Given the description of an element on the screen output the (x, y) to click on. 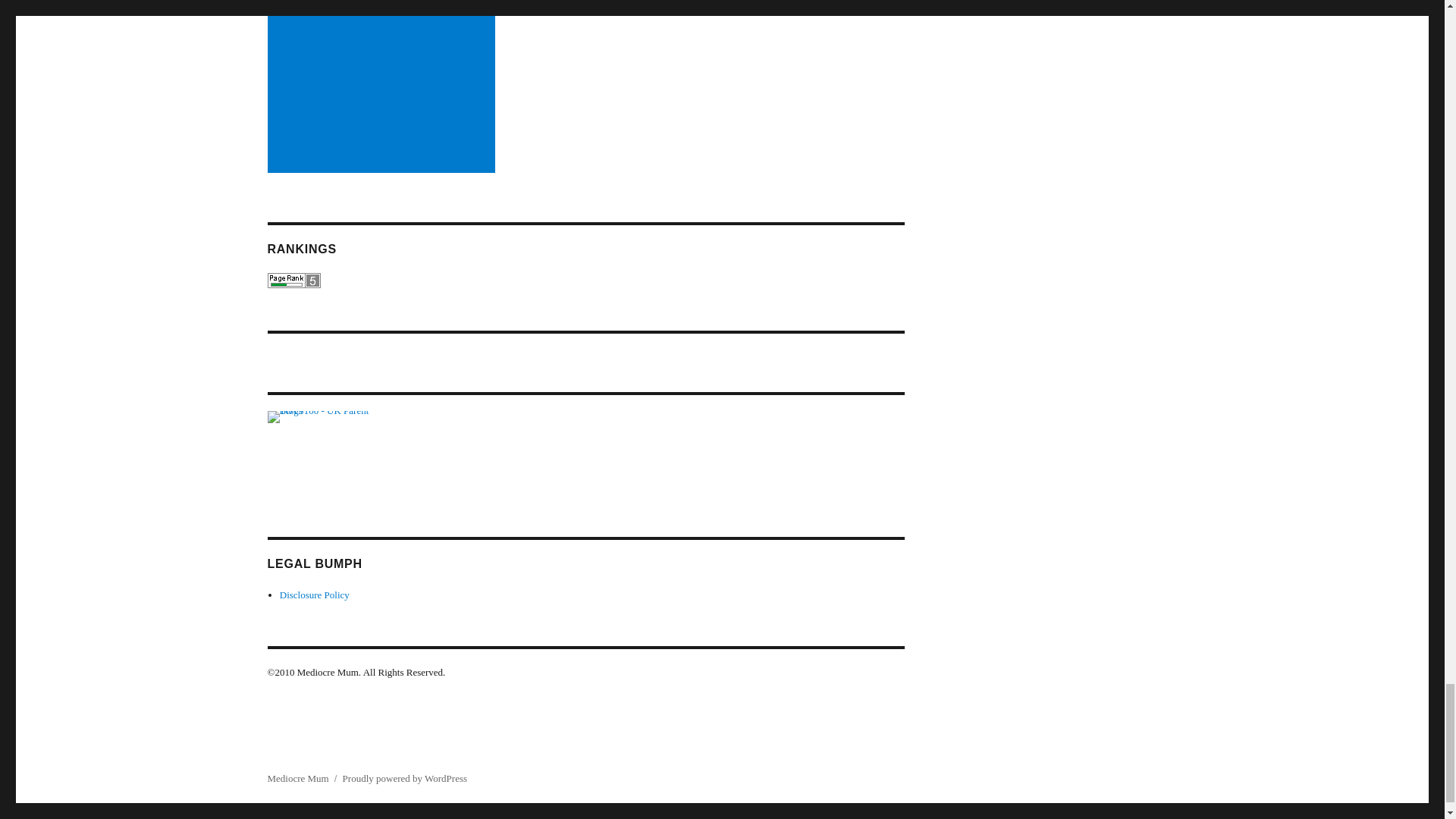
Disclosure Policy (314, 594)
TOTS100 - UK Parent Blogs (328, 452)
TOTS 100 - UK Parent Blogs (328, 455)
Check Google Page Rank (585, 280)
